Given the description of an element on the screen output the (x, y) to click on. 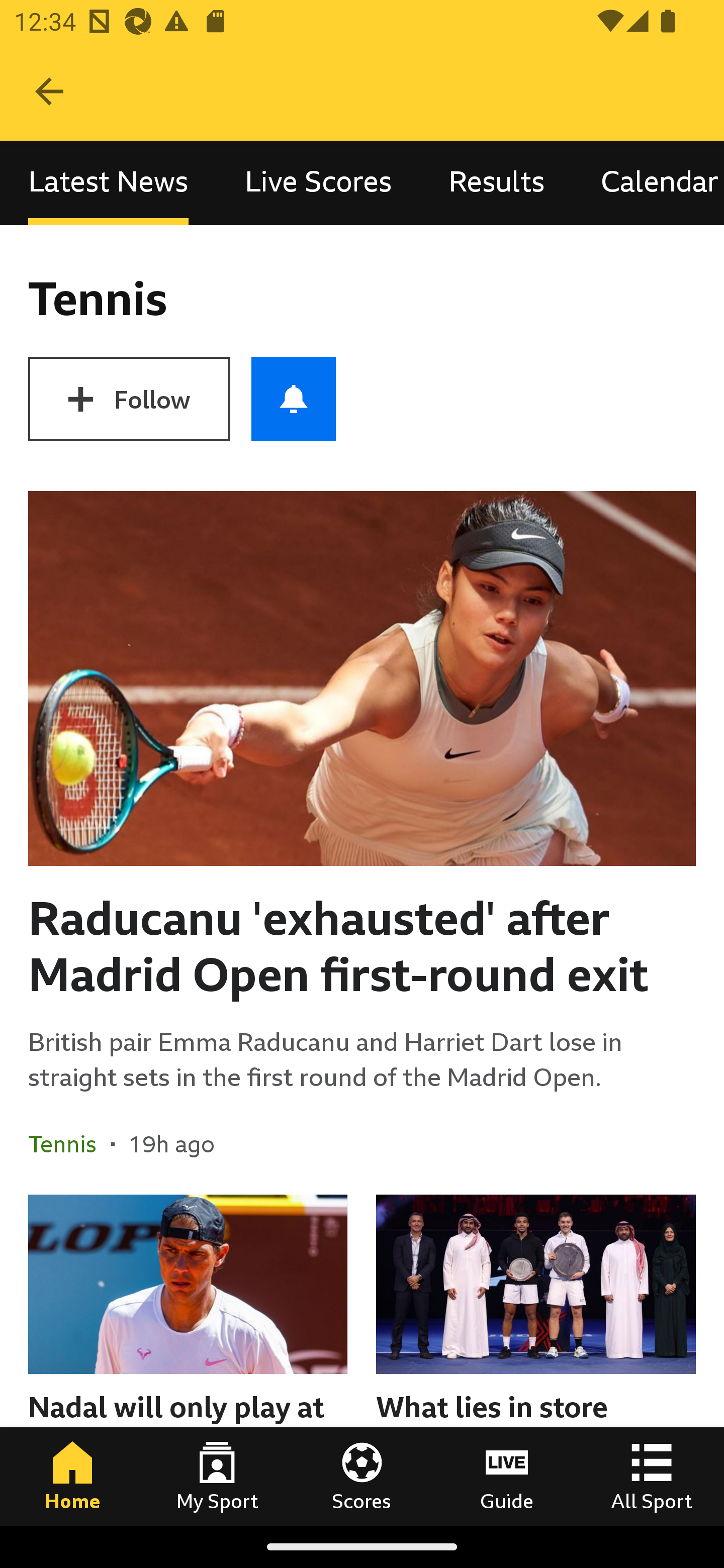
Navigate up (49, 91)
Latest News, selected Latest News (108, 183)
Live Scores (318, 183)
Results (496, 183)
Calendar (648, 183)
Follow Tennis Follow (129, 398)
Push notifications for Tennis (293, 398)
My Sport (216, 1475)
Scores (361, 1475)
Guide (506, 1475)
All Sport (651, 1475)
